Given the description of an element on the screen output the (x, y) to click on. 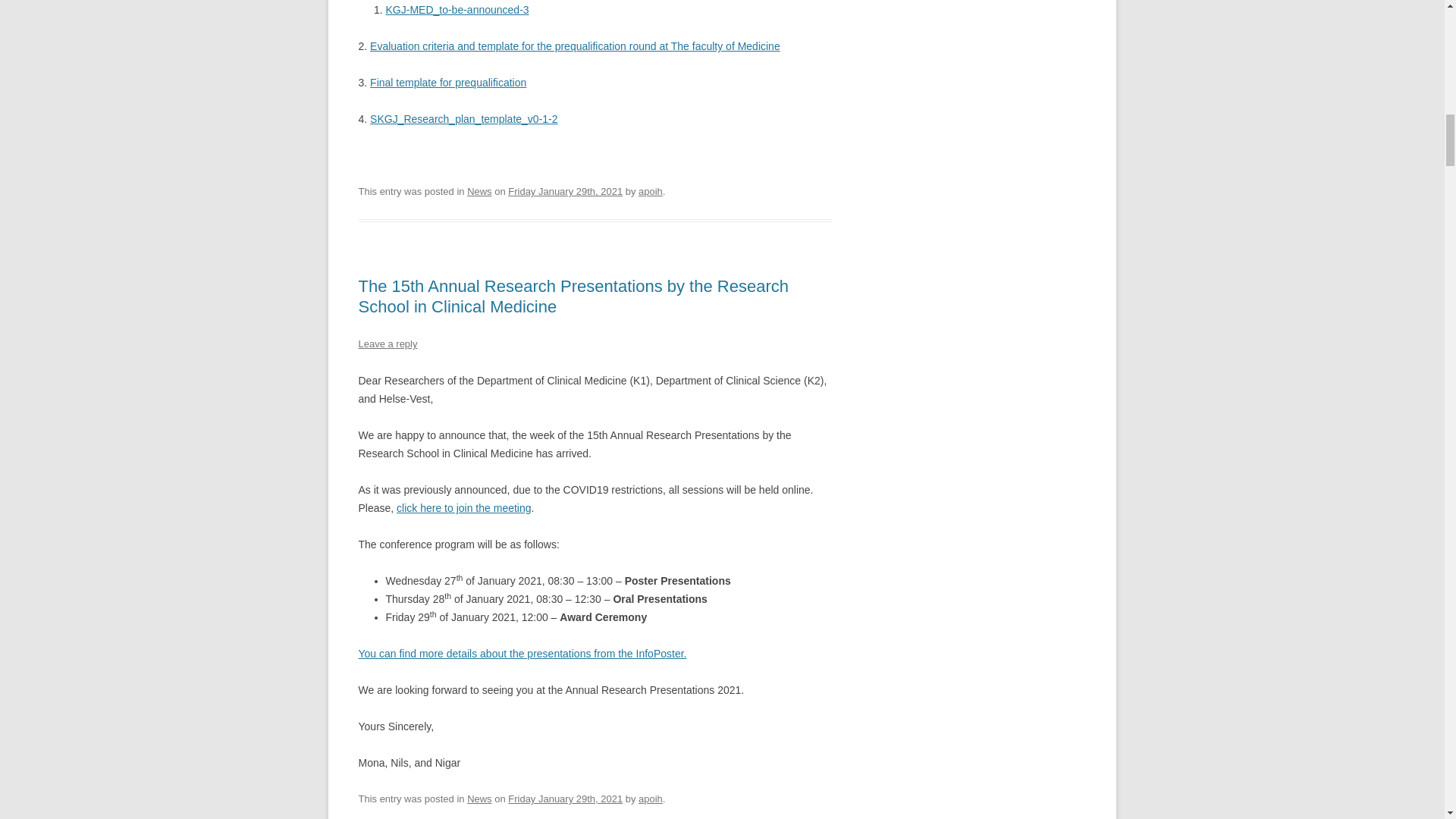
View all posts by apoih (650, 798)
10:46 AM (565, 798)
10:54 AM (565, 191)
View all posts by apoih (650, 191)
Final template for prequalification (447, 82)
